Given the description of an element on the screen output the (x, y) to click on. 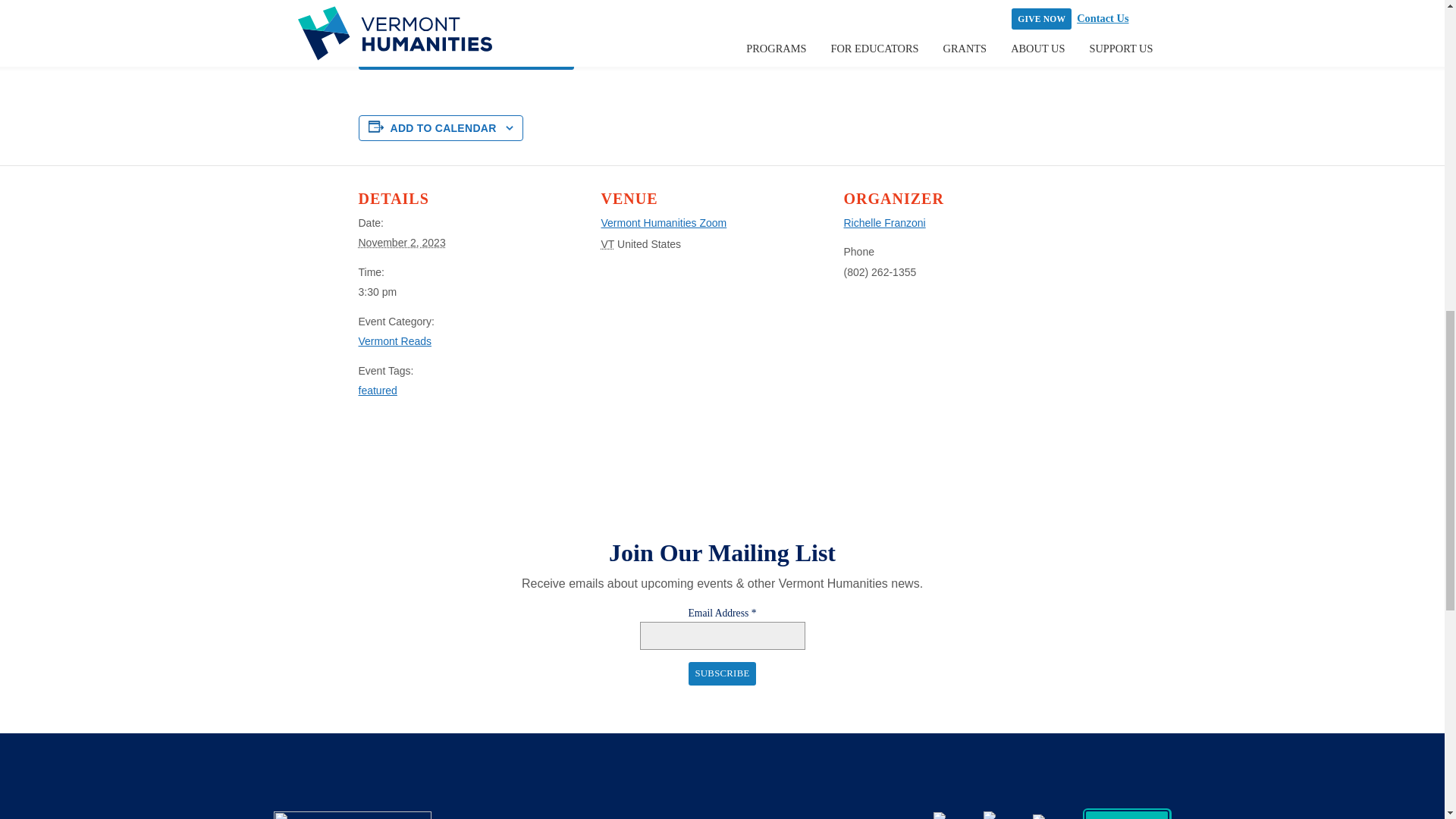
Subscribe (721, 673)
2023-11-02 (401, 242)
Richelle Franzoni (883, 223)
2023-11-02 (470, 291)
Vermont (606, 244)
